Given the description of an element on the screen output the (x, y) to click on. 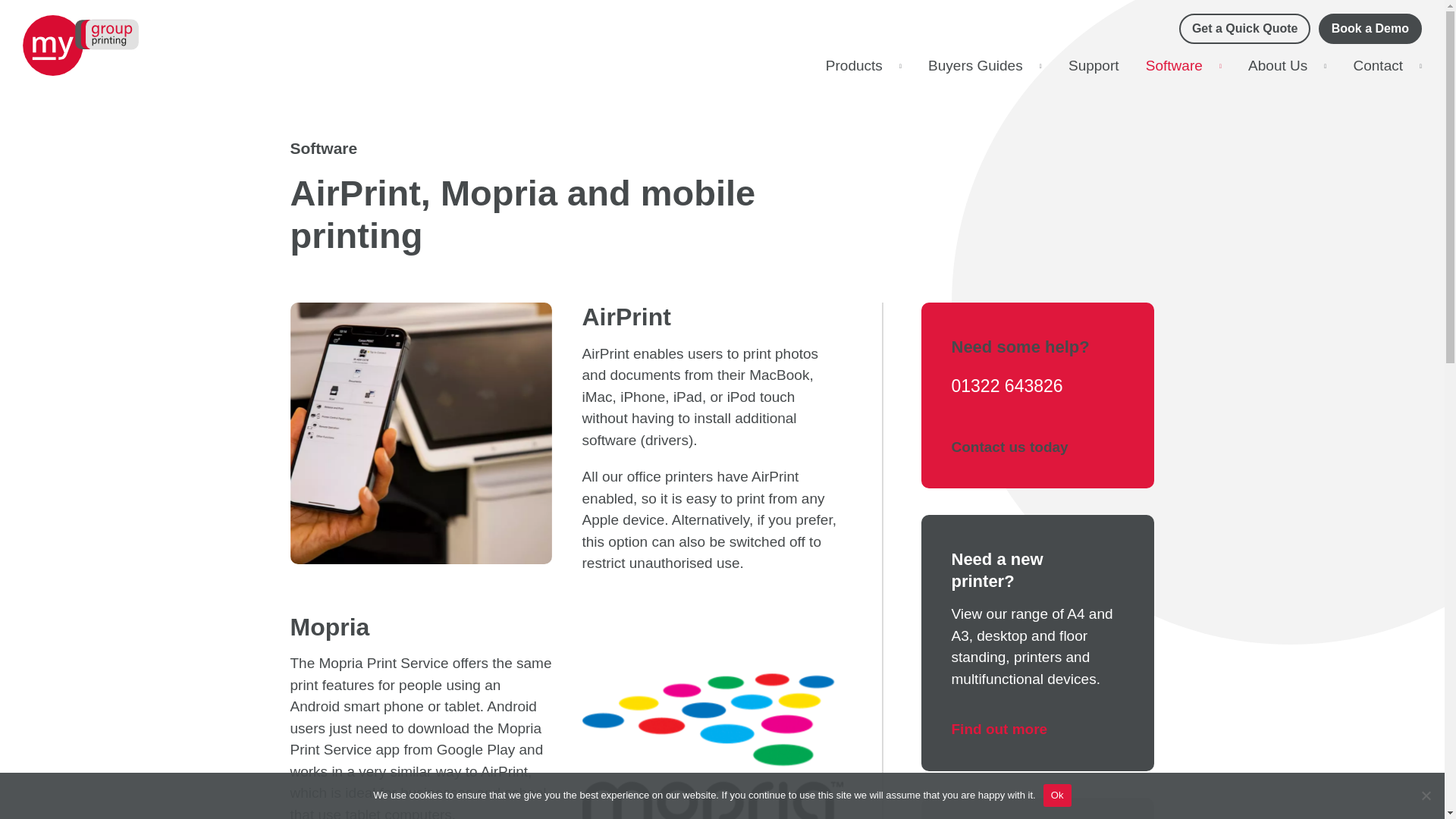
No (1425, 795)
My Group Printing (80, 45)
Get a Quick Quote (1245, 28)
Book a Demo (1370, 28)
